Given the description of an element on the screen output the (x, y) to click on. 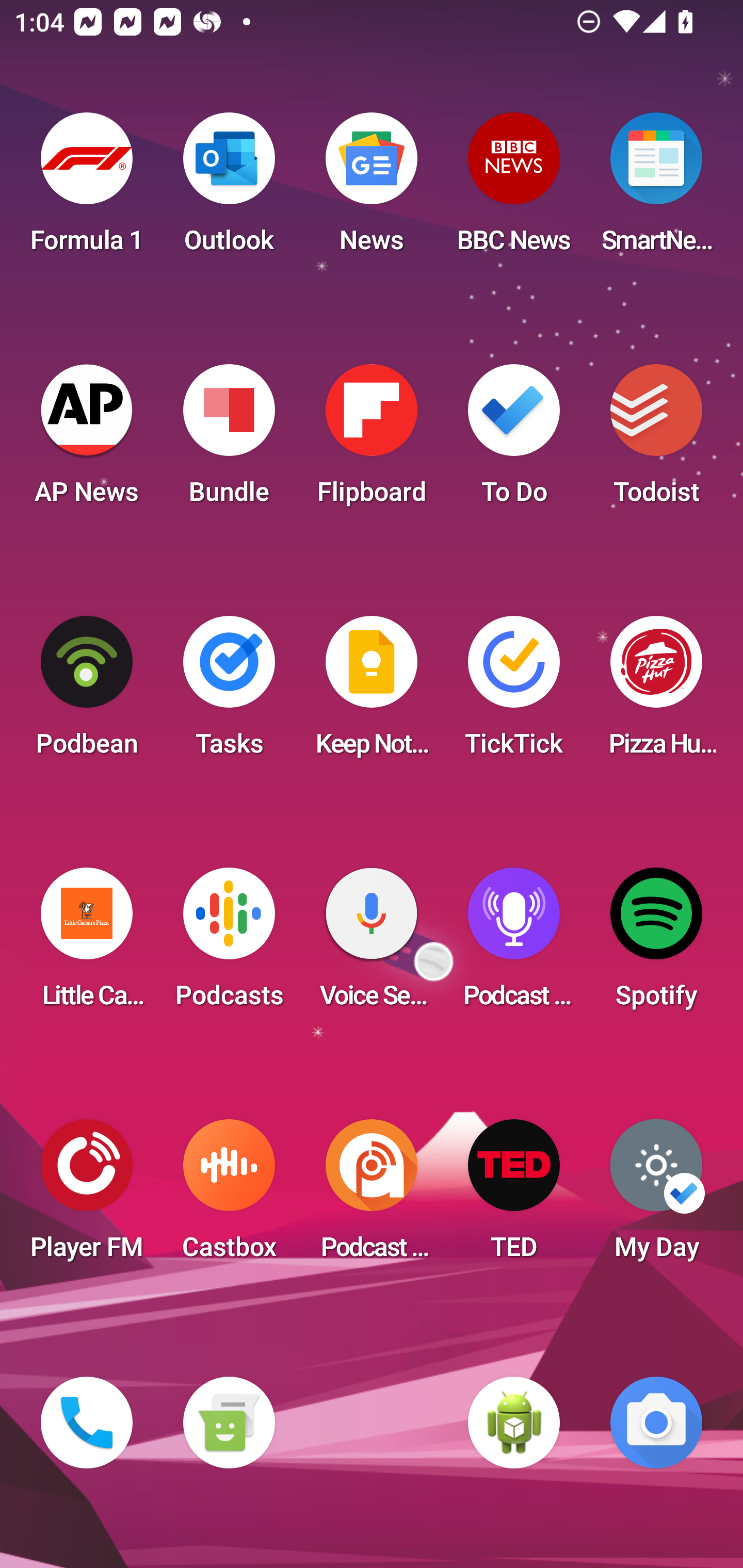
Formula 1 (86, 188)
Outlook (228, 188)
News (371, 188)
BBC News (513, 188)
SmartNews (656, 188)
AP News (86, 440)
Bundle (228, 440)
Flipboard (371, 440)
To Do (513, 440)
Todoist (656, 440)
Podbean (86, 692)
Tasks (228, 692)
Keep Notes (371, 692)
TickTick (513, 692)
Pizza Hut HK & Macau (656, 692)
Little Caesars Pizza (86, 943)
Podcasts (228, 943)
Voice Search (371, 943)
Podcast Player (513, 943)
Spotify (656, 943)
Player FM (86, 1195)
Castbox (228, 1195)
Podcast Addict (371, 1195)
TED (513, 1195)
My Day (656, 1195)
Phone (86, 1422)
Messaging (228, 1422)
WebView Browser Tester (513, 1422)
Camera (656, 1422)
